Given the description of an element on the screen output the (x, y) to click on. 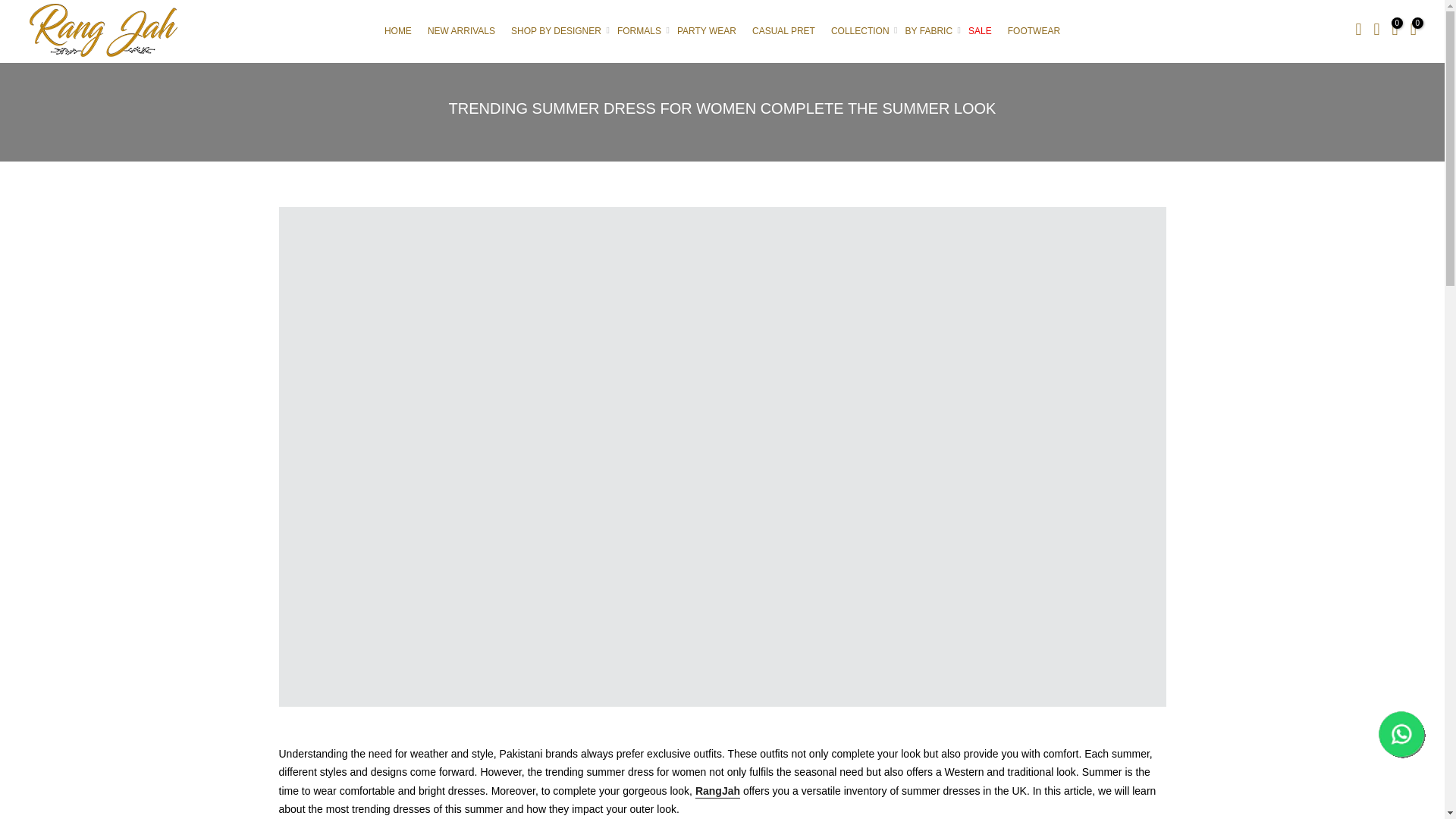
FORMALS (638, 31)
SHOP BY DESIGNER (556, 31)
HOME (397, 31)
PARTY WEAR (706, 31)
NEW ARRIVALS (460, 31)
